Given the description of an element on the screen output the (x, y) to click on. 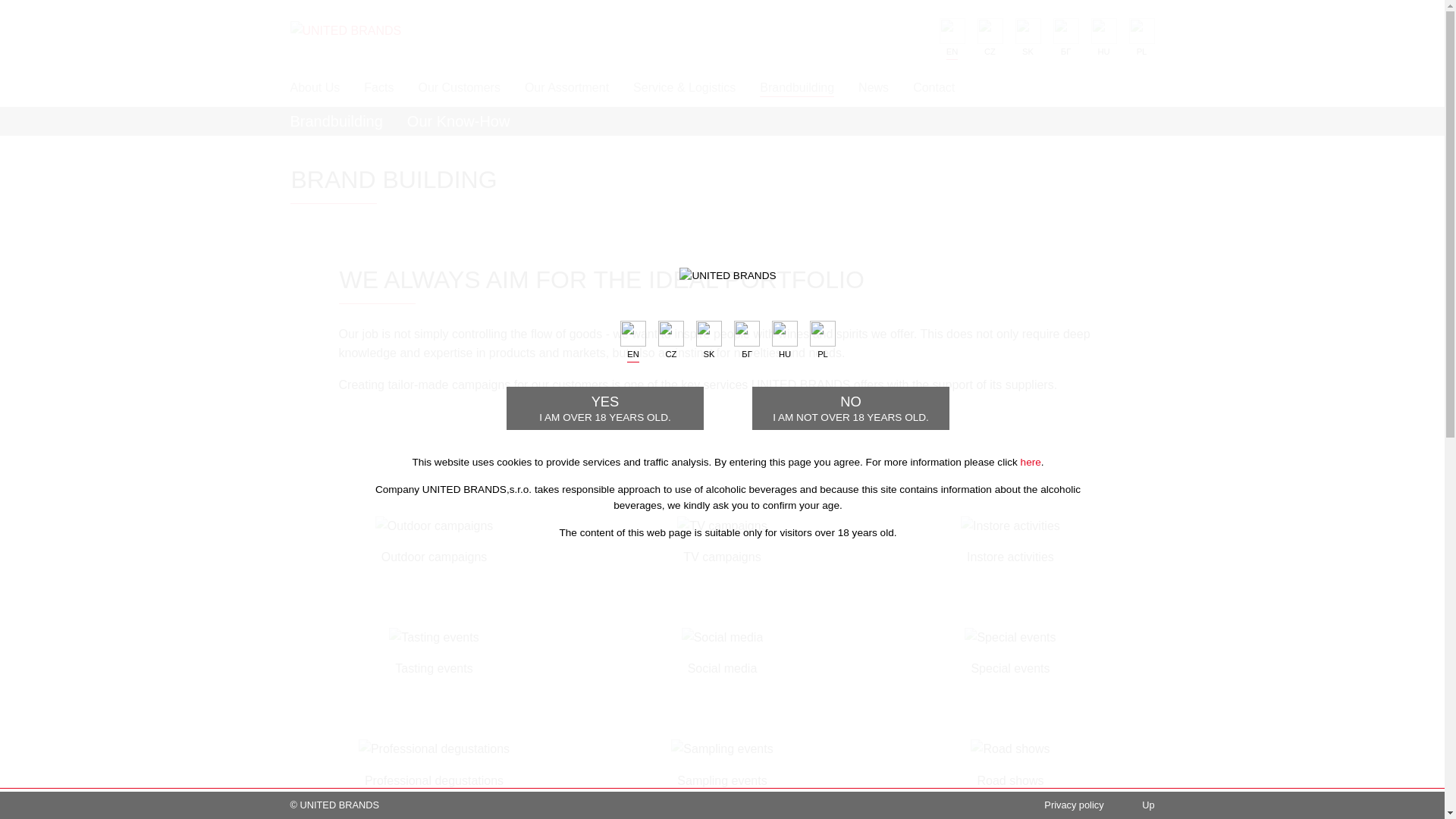
Our Customers (458, 88)
Our Assortment (566, 88)
Brandbuilding (335, 125)
Brandbuilding (850, 408)
About Us (604, 408)
Our Know-How (797, 89)
here (314, 88)
Contact (459, 125)
